Given the description of an element on the screen output the (x, y) to click on. 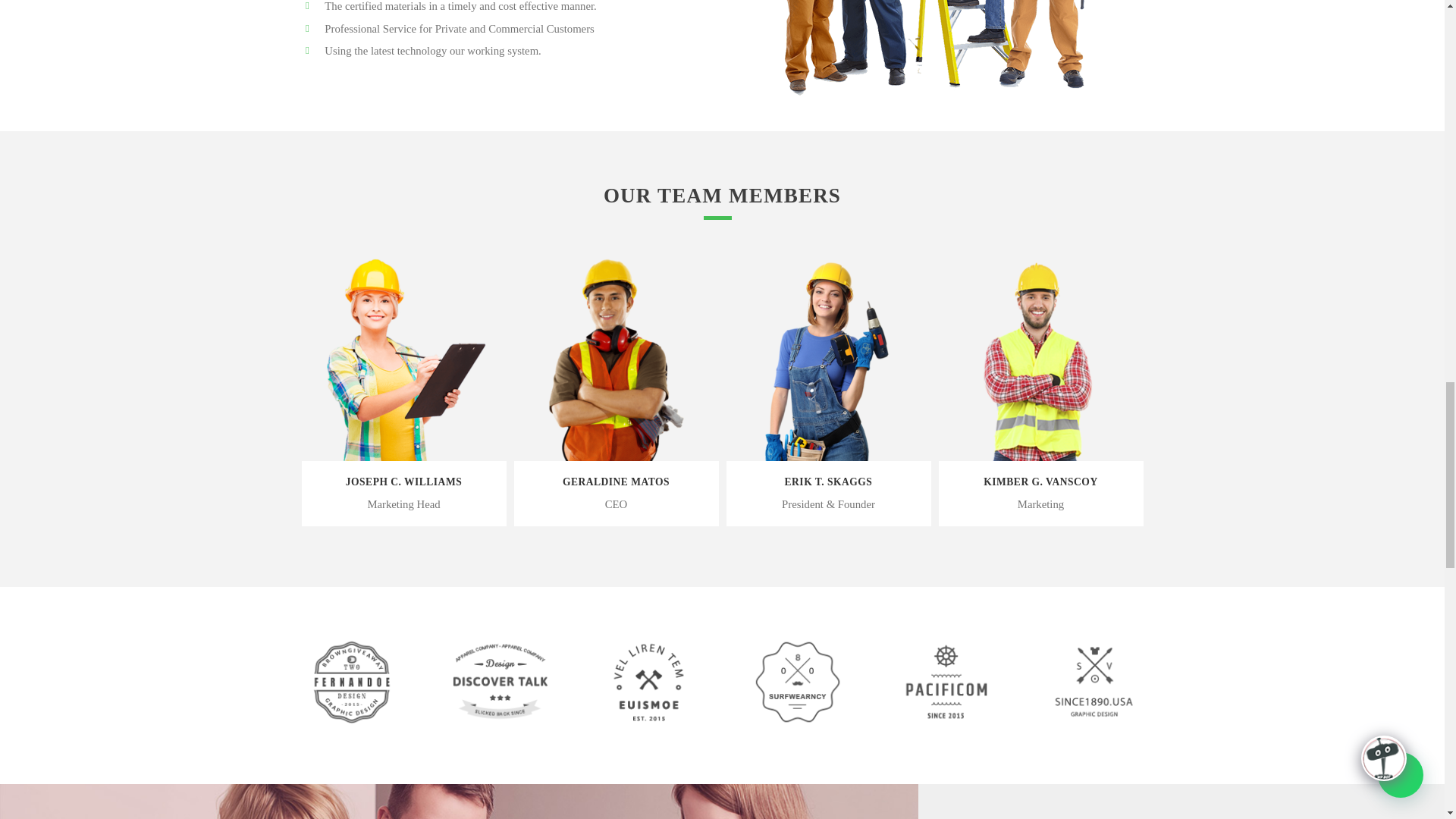
about4 (938, 52)
